Given the description of an element on the screen output the (x, y) to click on. 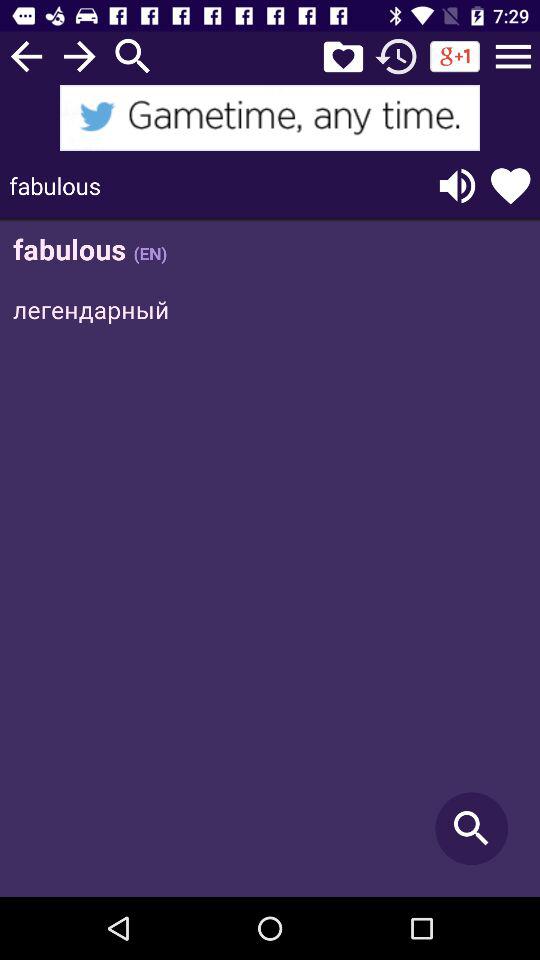
go back (26, 56)
